Given the description of an element on the screen output the (x, y) to click on. 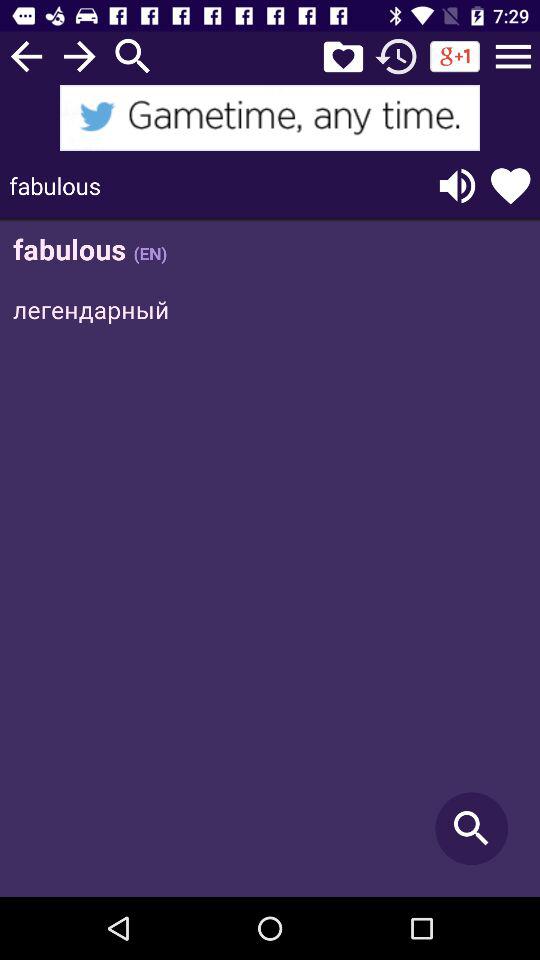
go back (26, 56)
